Given the description of an element on the screen output the (x, y) to click on. 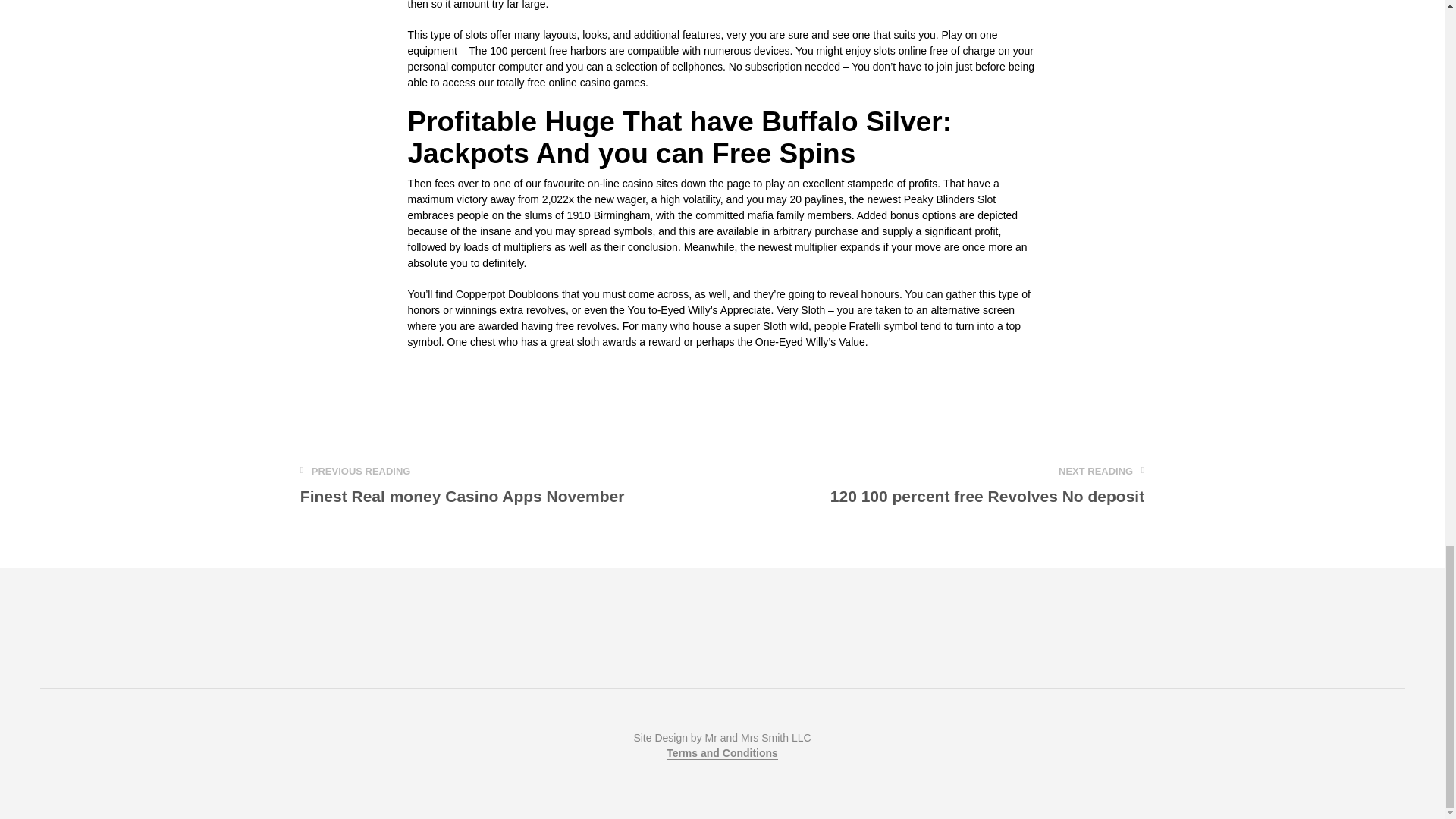
Terms and Conditions (986, 486)
